Given the description of an element on the screen output the (x, y) to click on. 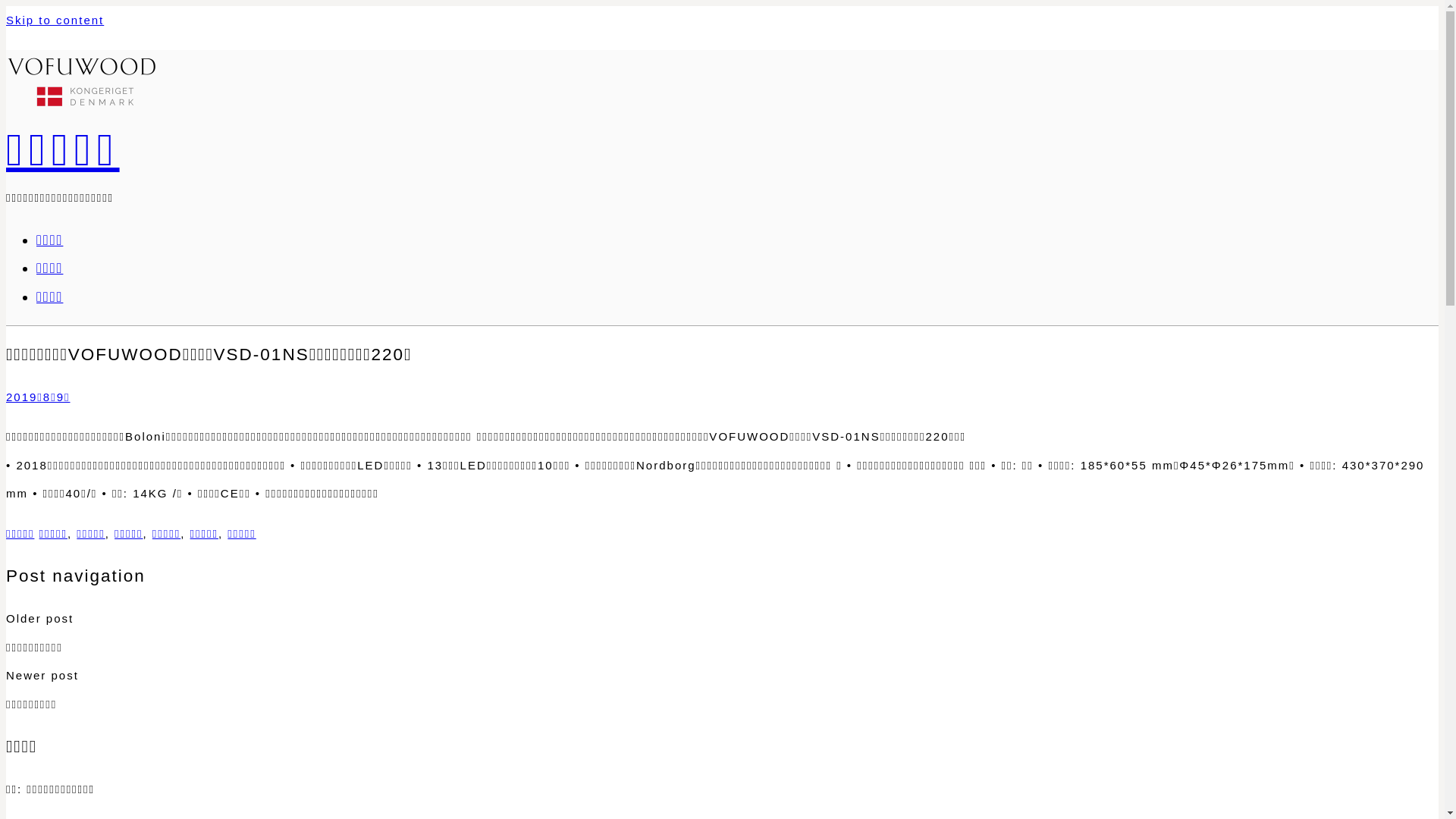
Skip to content Element type: text (54, 19)
